Given the description of an element on the screen output the (x, y) to click on. 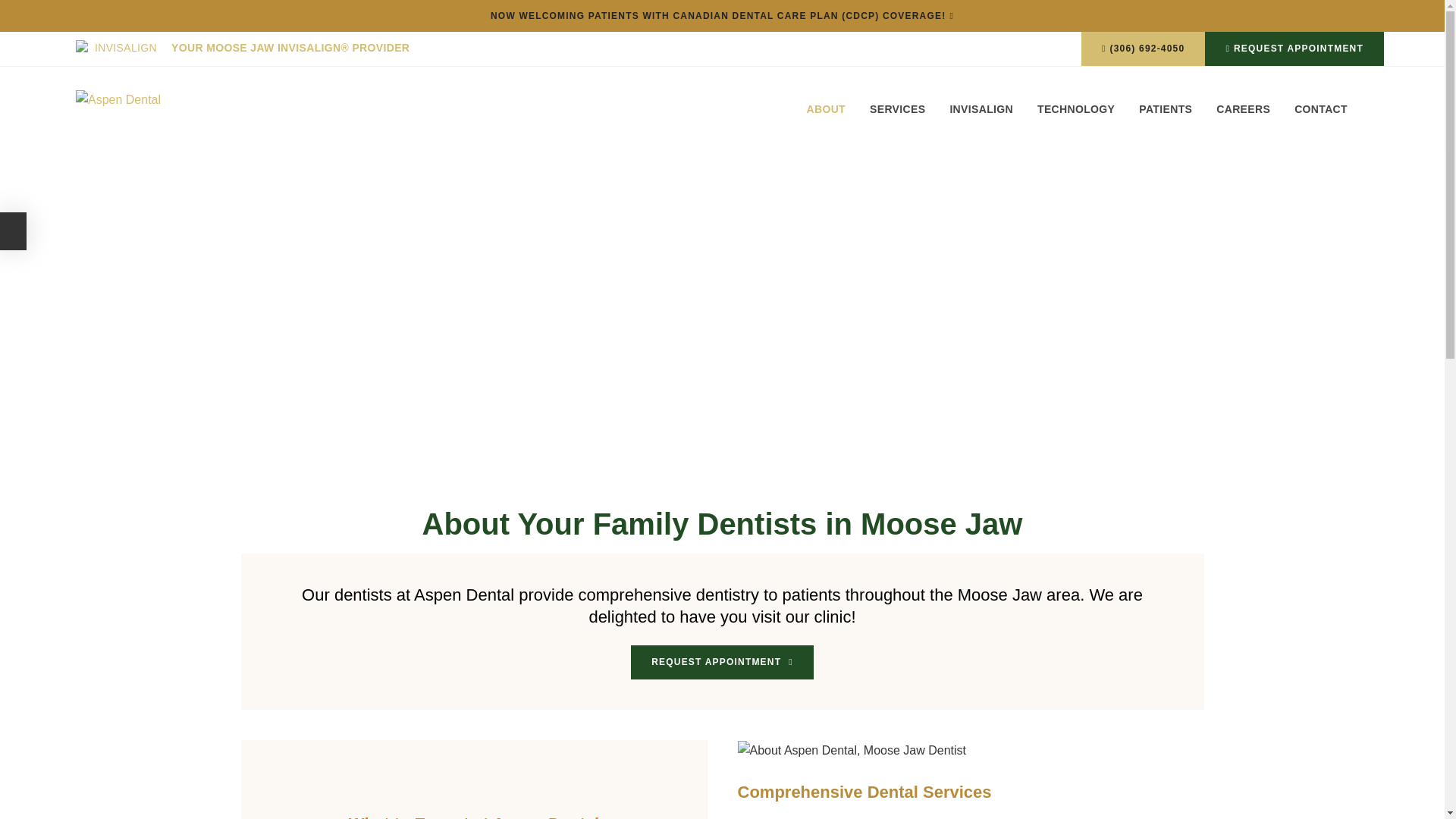
REQUEST APPOINTMENT (1294, 48)
SERVICES (897, 120)
ABOUT (831, 120)
